Given the description of an element on the screen output the (x, y) to click on. 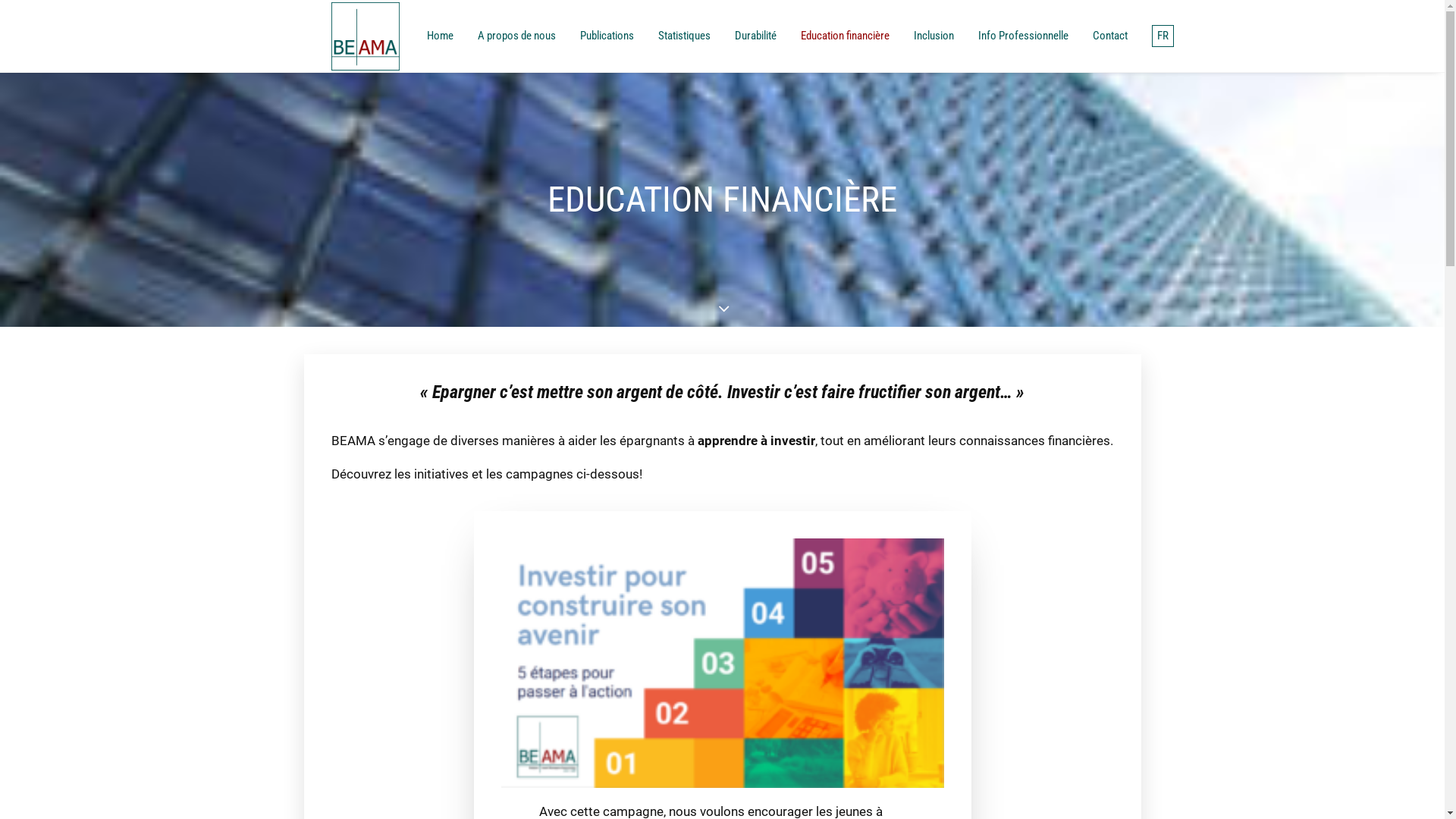
A propos de nous Element type: text (516, 36)
Statistiques Element type: text (684, 36)
Home Element type: text (444, 36)
Contact Element type: text (1109, 36)
Inclusion Element type: text (932, 36)
Publications Element type: text (605, 36)
FR Element type: text (1156, 36)
Info Professionnelle Element type: text (1023, 36)
